Given the description of an element on the screen output the (x, y) to click on. 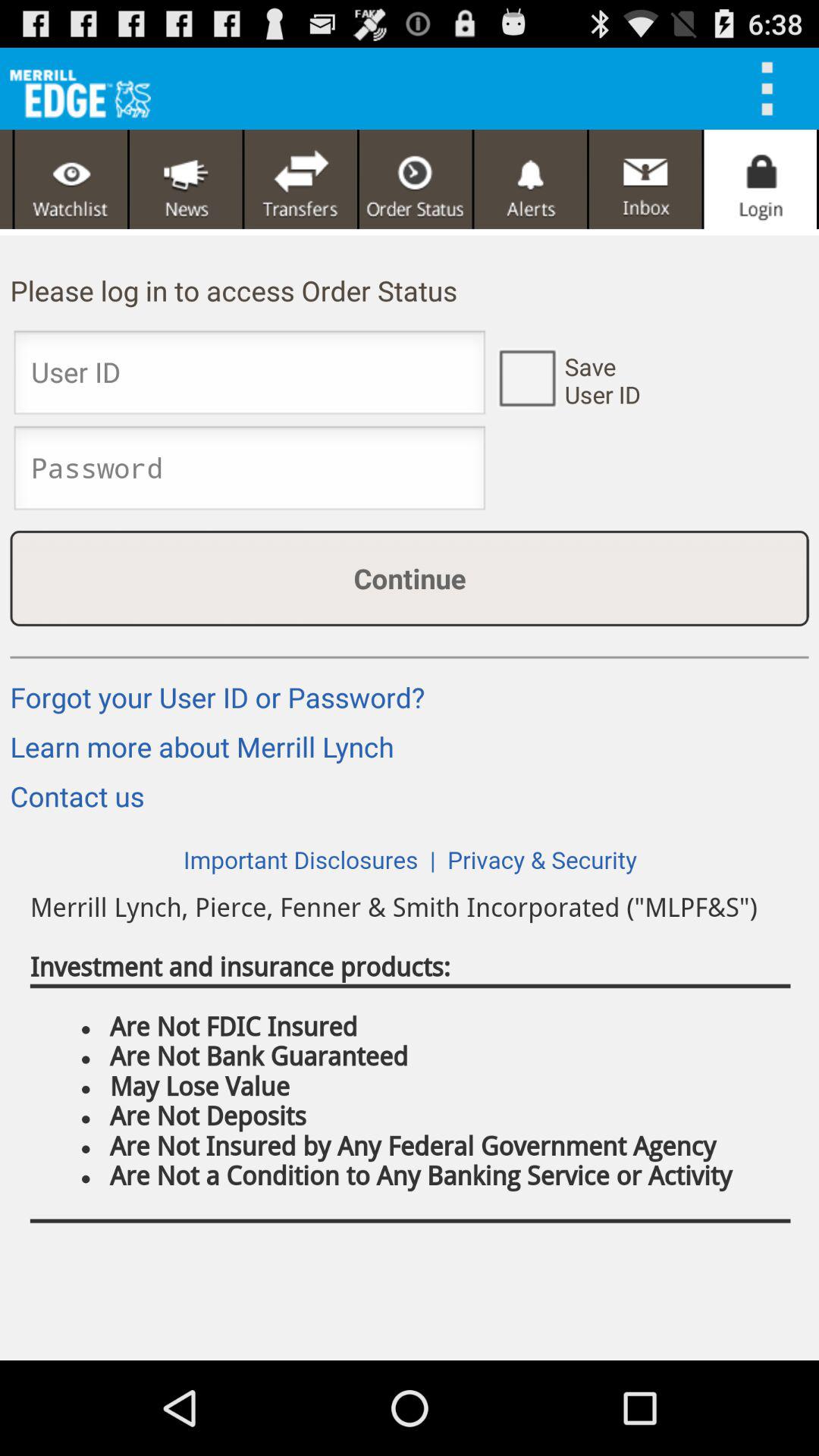
alerts (530, 179)
